Given the description of an element on the screen output the (x, y) to click on. 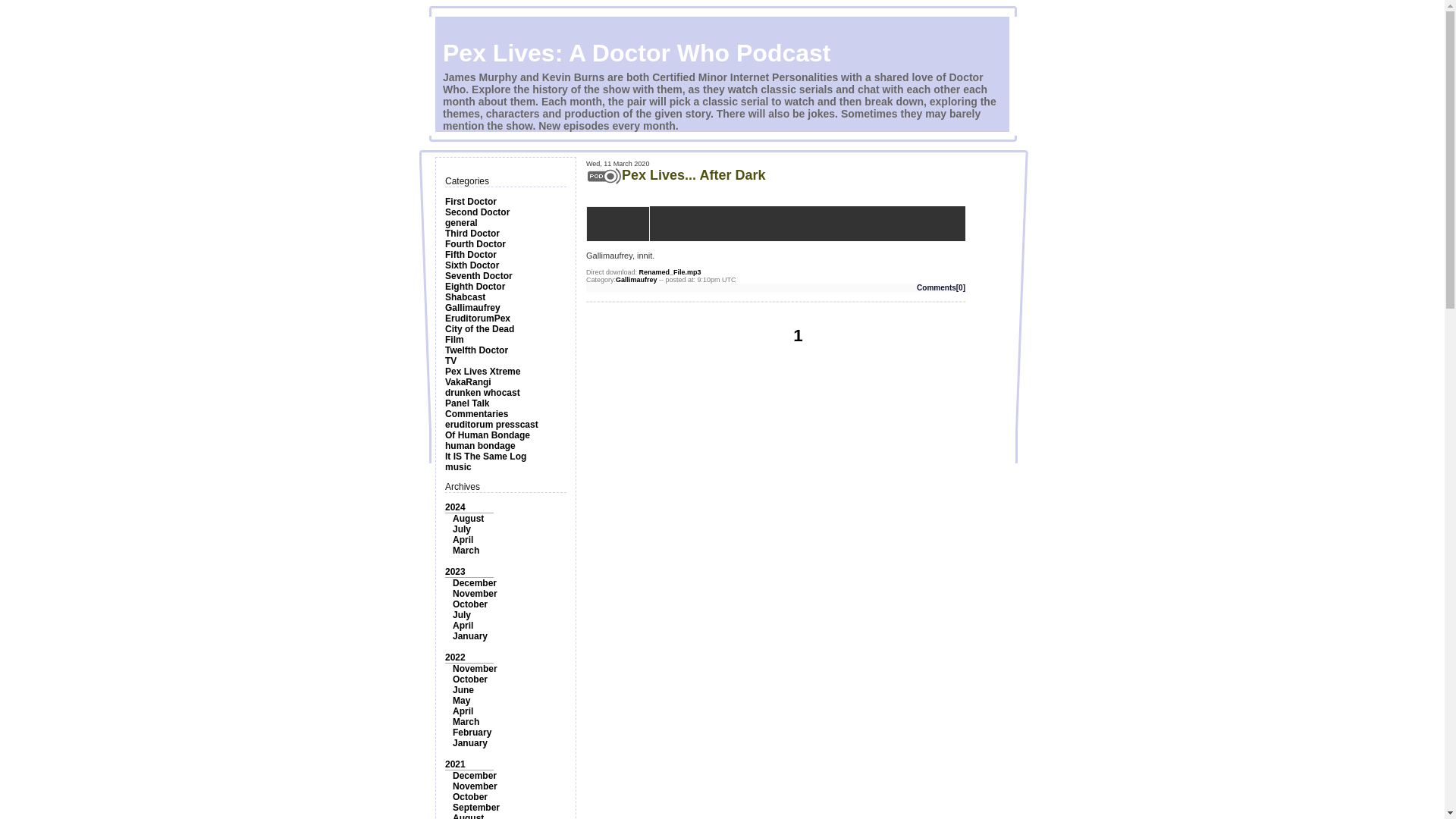
April (462, 624)
TV (451, 360)
Gallimaufrey (472, 307)
November (474, 593)
July (461, 529)
Sixth Doctor (472, 265)
Seventh Doctor (478, 276)
January (469, 635)
eruditorum presscast (491, 424)
August (467, 518)
